Given the description of an element on the screen output the (x, y) to click on. 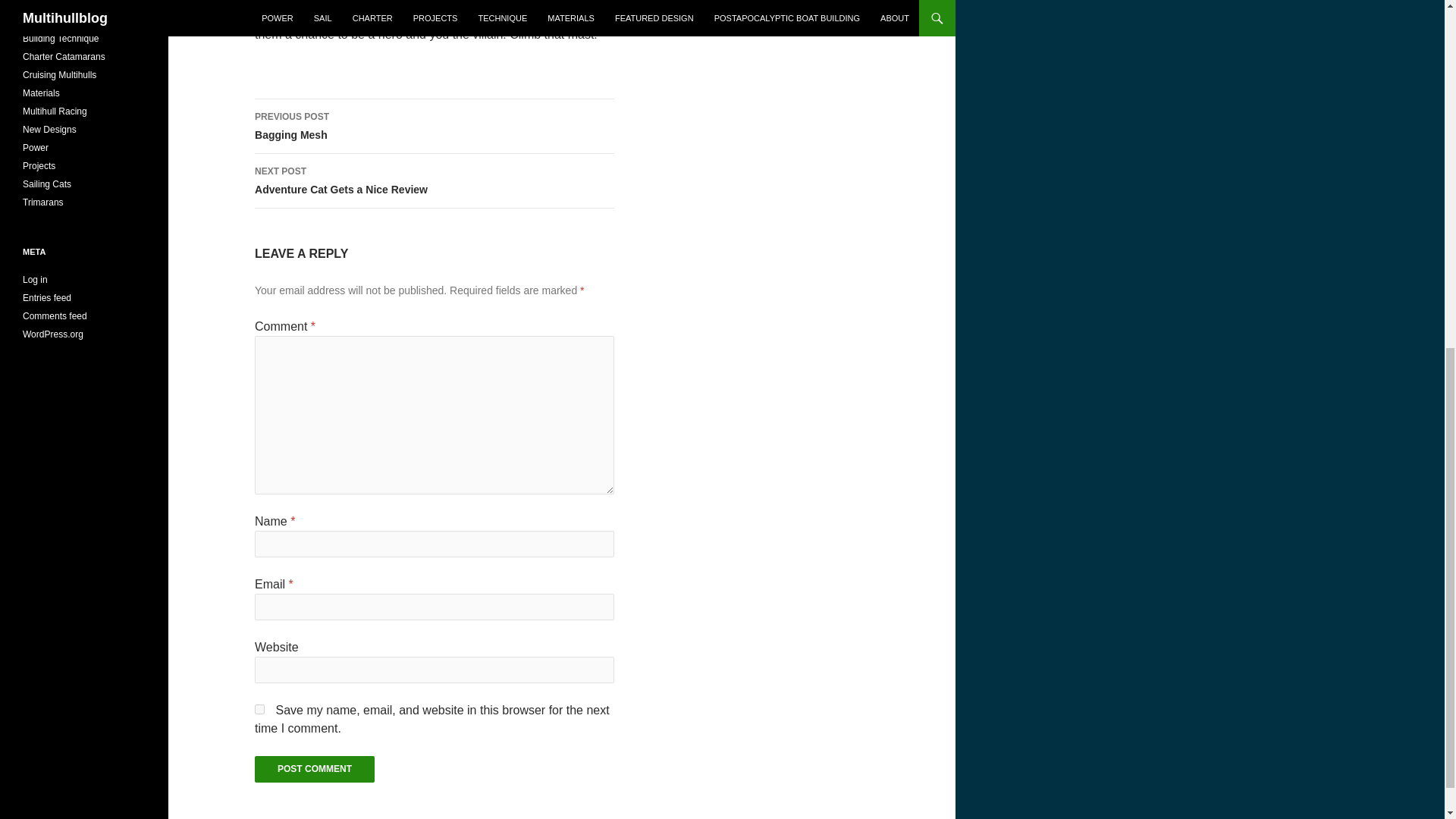
Post Comment (314, 768)
yes (434, 126)
Post Comment (434, 180)
